Given the description of an element on the screen output the (x, y) to click on. 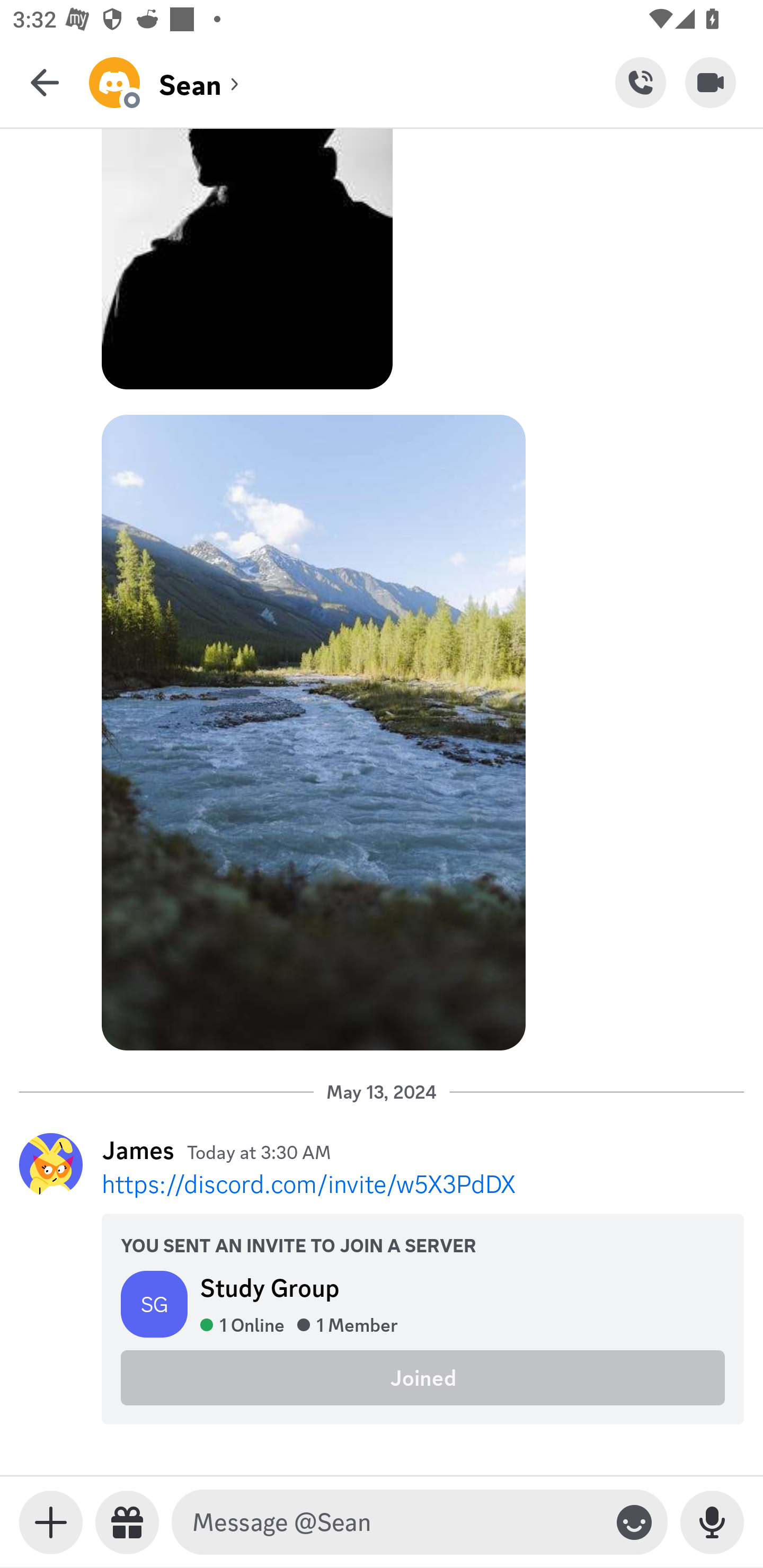
Sean (channel) Sean Sean (channel) (351, 82)
Back (44, 82)
Start Voice Call (640, 82)
Start Video Call (710, 82)
James (137, 1149)
Joined (422, 1377)
Toggle media keyboard (50, 1522)
Send a gift (126, 1522)
Record Voice Message (711, 1522)
Message @Sean (395, 1522)
Toggle emoji keyboard (634, 1522)
